Given the description of an element on the screen output the (x, y) to click on. 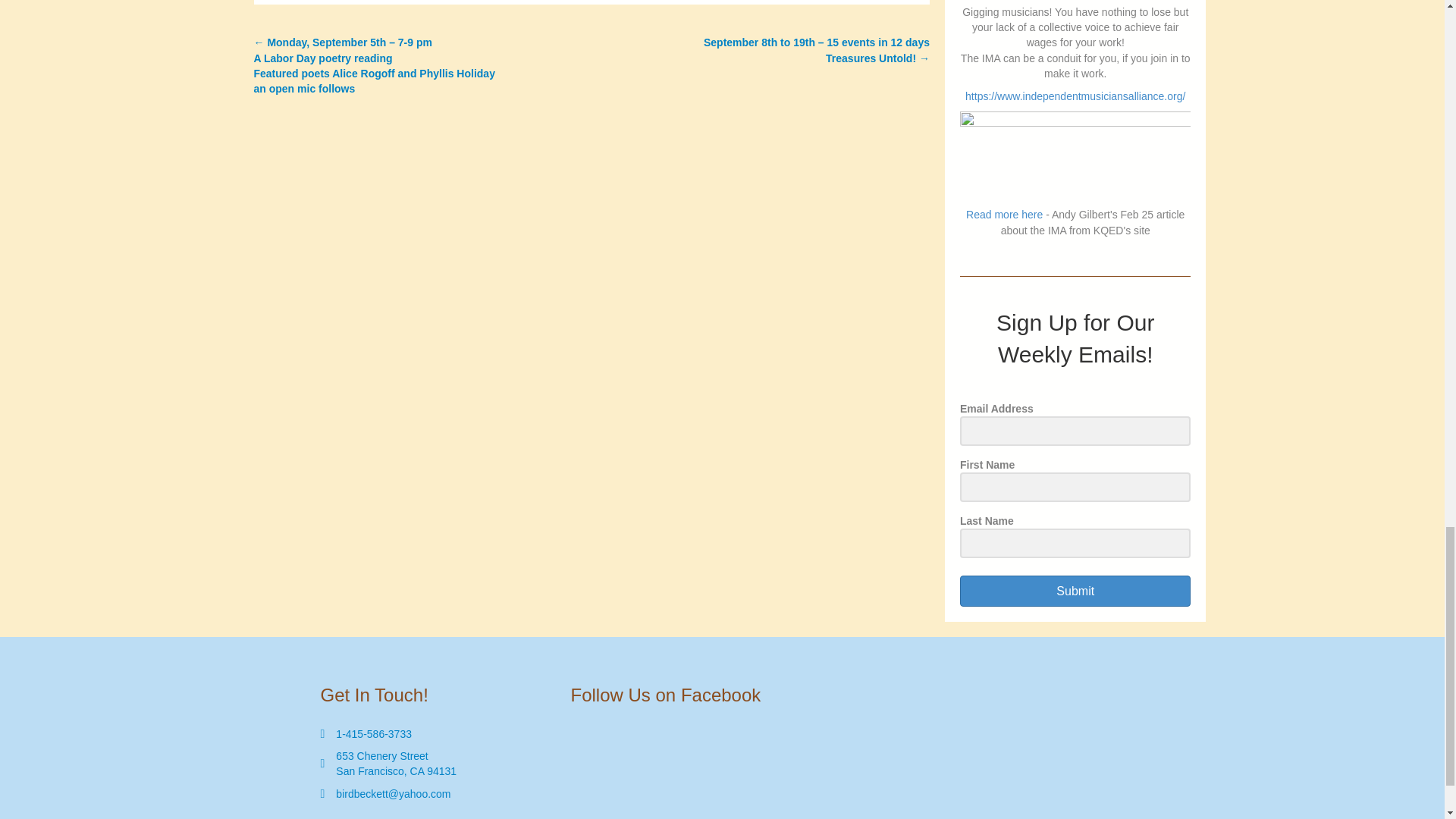
Submit (396, 763)
1-415-586-3733 (1075, 590)
Read more here (374, 734)
